Given the description of an element on the screen output the (x, y) to click on. 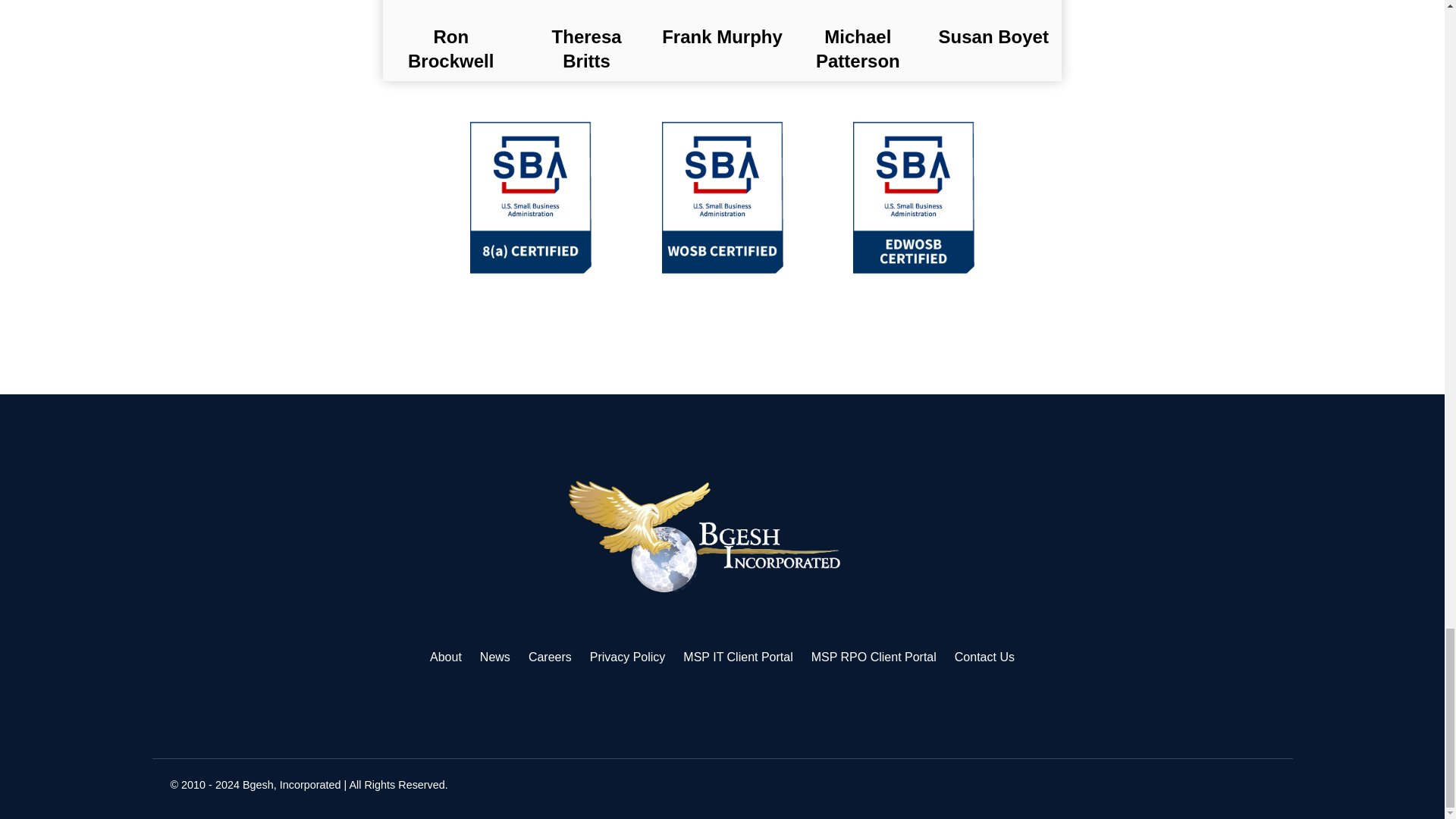
About (445, 656)
Careers (550, 656)
Privacy Policy (627, 656)
MSP RPO Client Portal (873, 656)
Contact Us (984, 656)
MSP IT Client Portal (737, 656)
About (445, 656)
Contact Us (984, 656)
Careers (550, 656)
MSP IT Client Portal (737, 656)
Privacy Policy (627, 656)
News (495, 656)
MSP RPO Client Portal (873, 656)
News (495, 656)
